Given the description of an element on the screen output the (x, y) to click on. 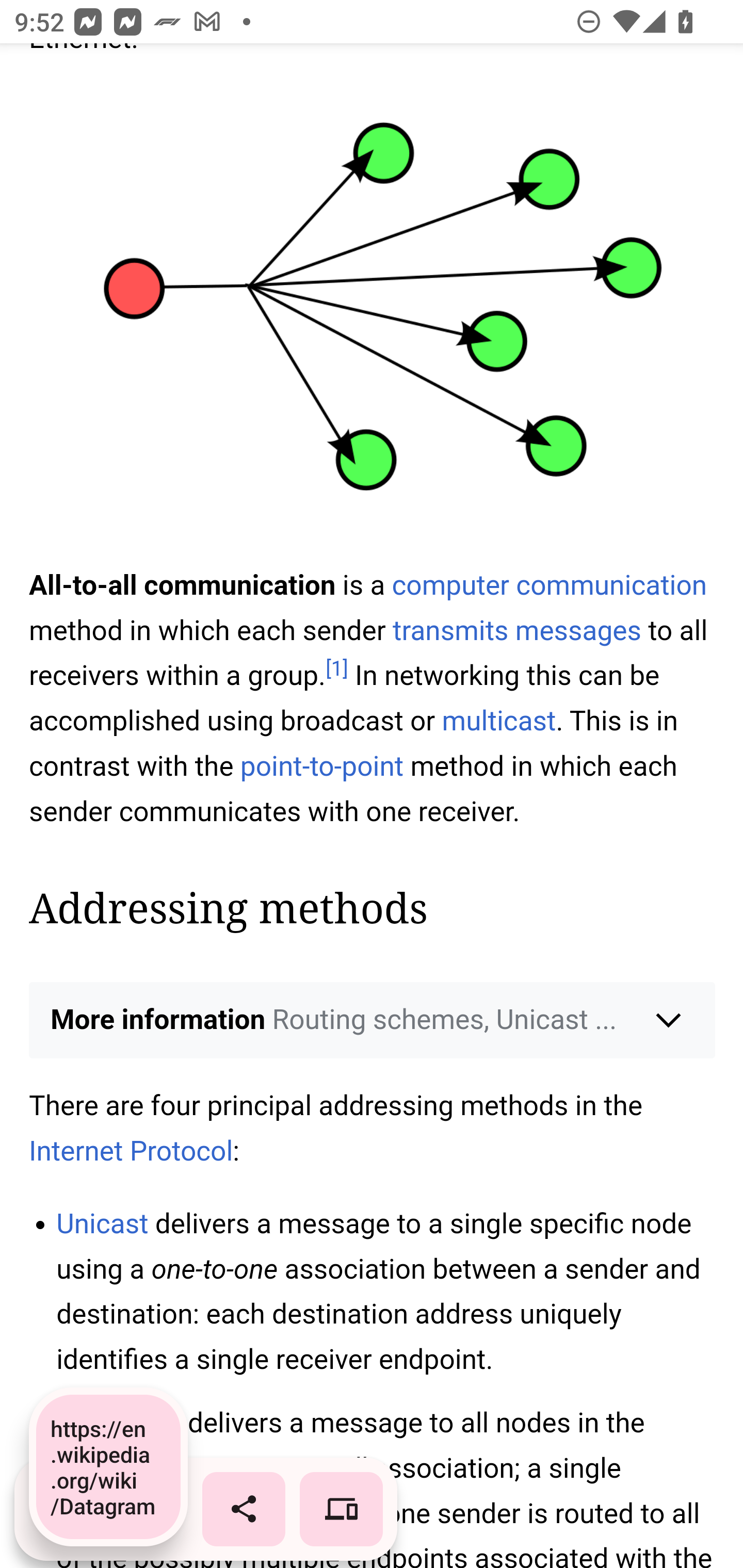
Expand table (372, 552)
960px-Broadcast.svg (372, 319)
computer communication (549, 585)
transmits messages (516, 630)
[] [ 1 ] (336, 669)
multicast (498, 722)
point-to-point (321, 768)
Internet Protocol (131, 1152)
Unicast (102, 1224)
